Given the description of an element on the screen output the (x, y) to click on. 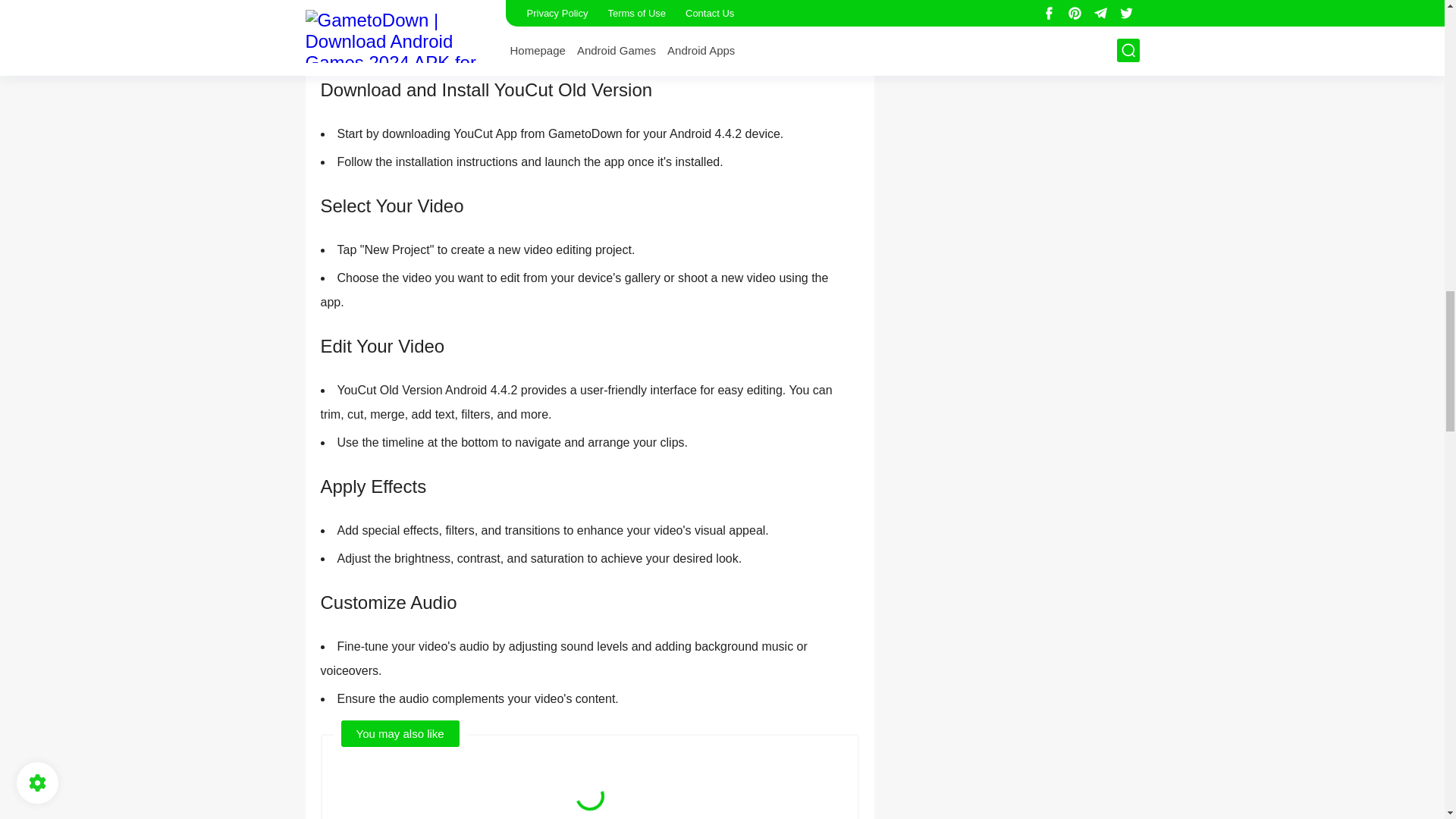
YouCut for Android 4.4.2 (484, 21)
